Given the description of an element on the screen output the (x, y) to click on. 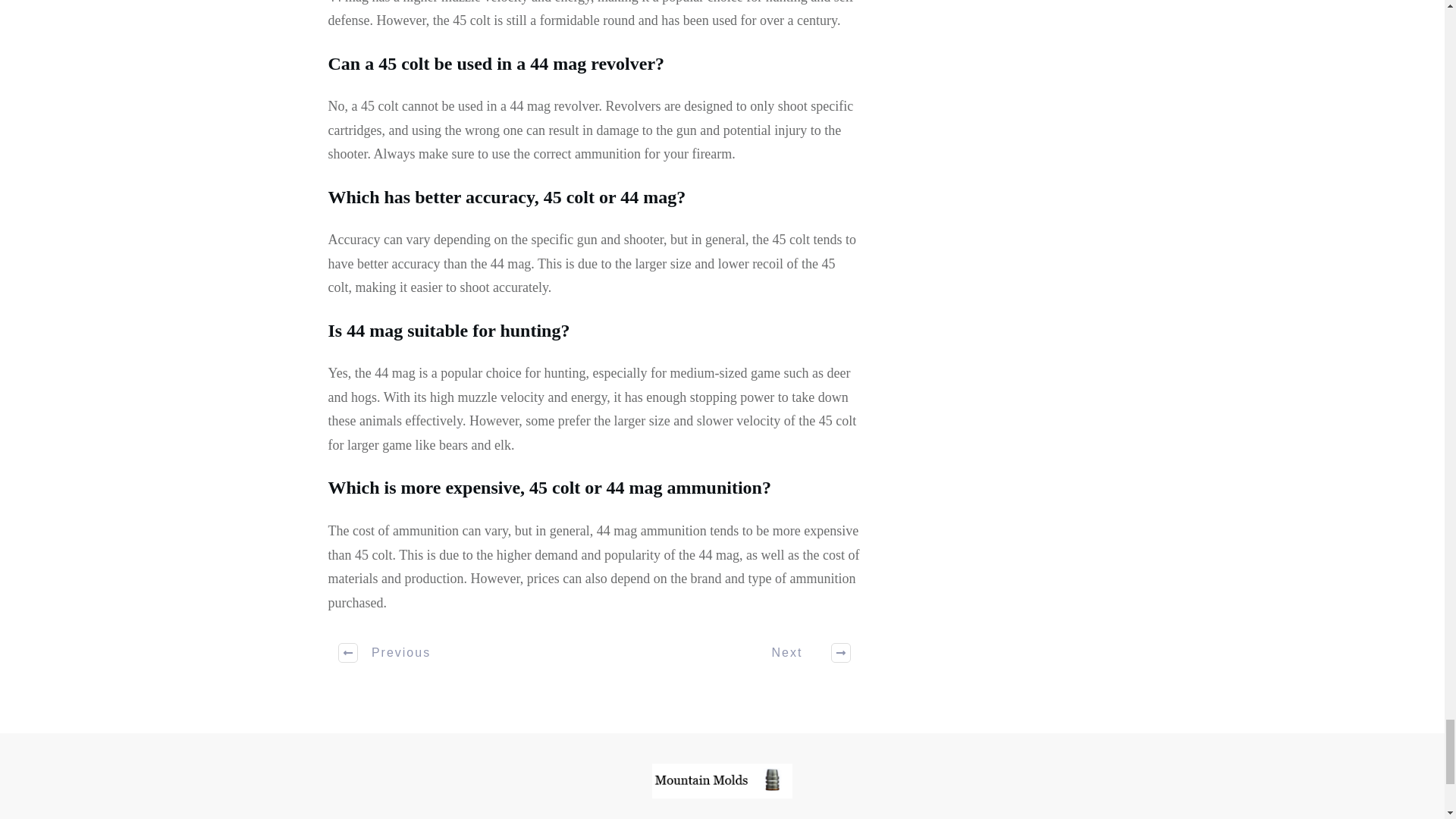
Previous (385, 652)
Next (802, 652)
